Given the description of an element on the screen output the (x, y) to click on. 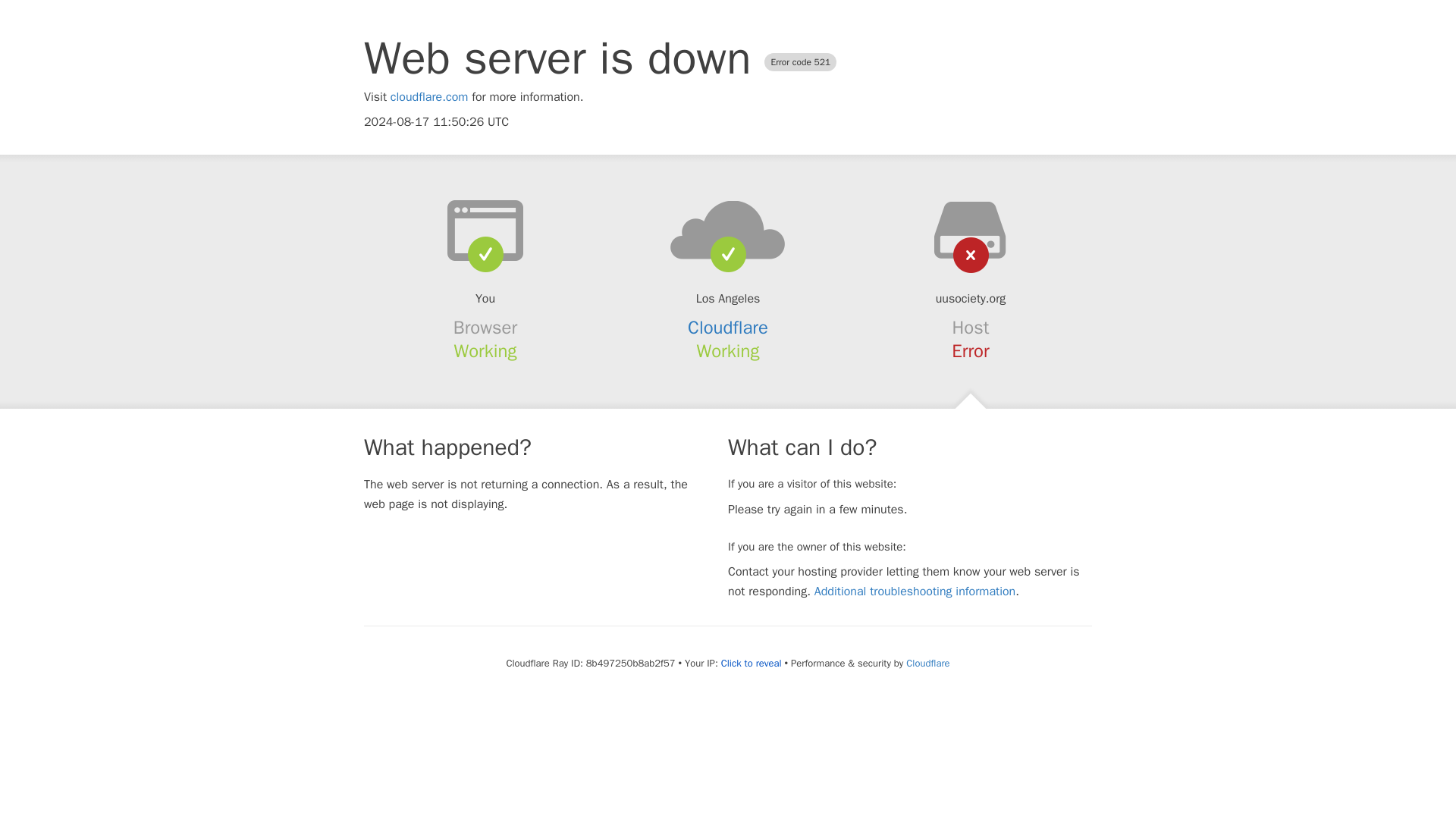
Click to reveal (750, 663)
cloudflare.com (429, 96)
Cloudflare (927, 662)
Additional troubleshooting information (913, 590)
Cloudflare (727, 327)
